Given the description of an element on the screen output the (x, y) to click on. 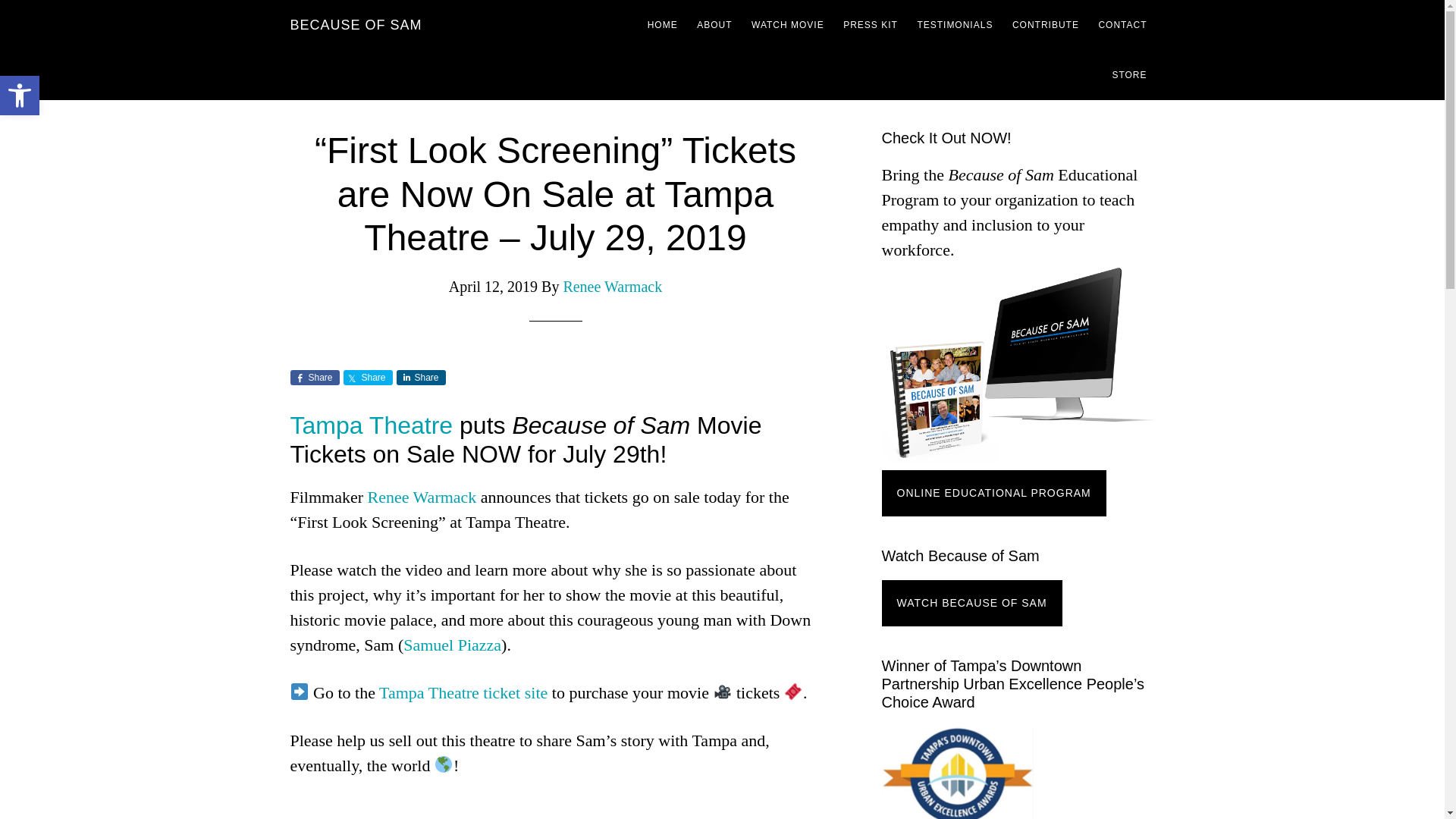
BECAUSE OF SAM (355, 24)
CONTRIBUTE (1045, 24)
WATCH MOVIE (787, 24)
PRESS KIT (19, 95)
HOME (870, 24)
Accessibility Tools (662, 24)
ABOUT (19, 95)
TESTIMONIALS (713, 24)
Skip to main content (954, 24)
